Given the description of an element on the screen output the (x, y) to click on. 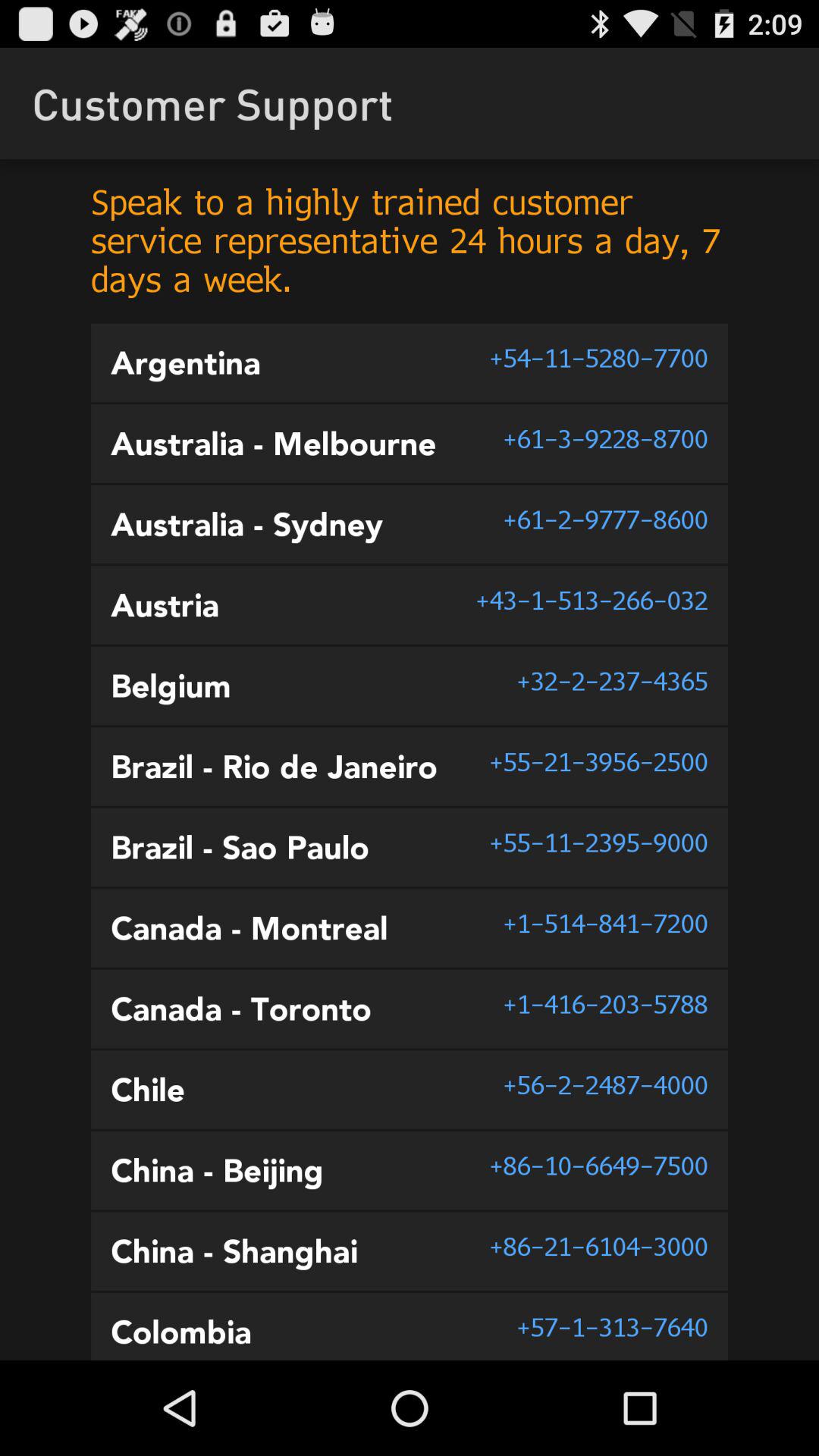
tap the item below 1 514 841 (605, 1003)
